Given the description of an element on the screen output the (x, y) to click on. 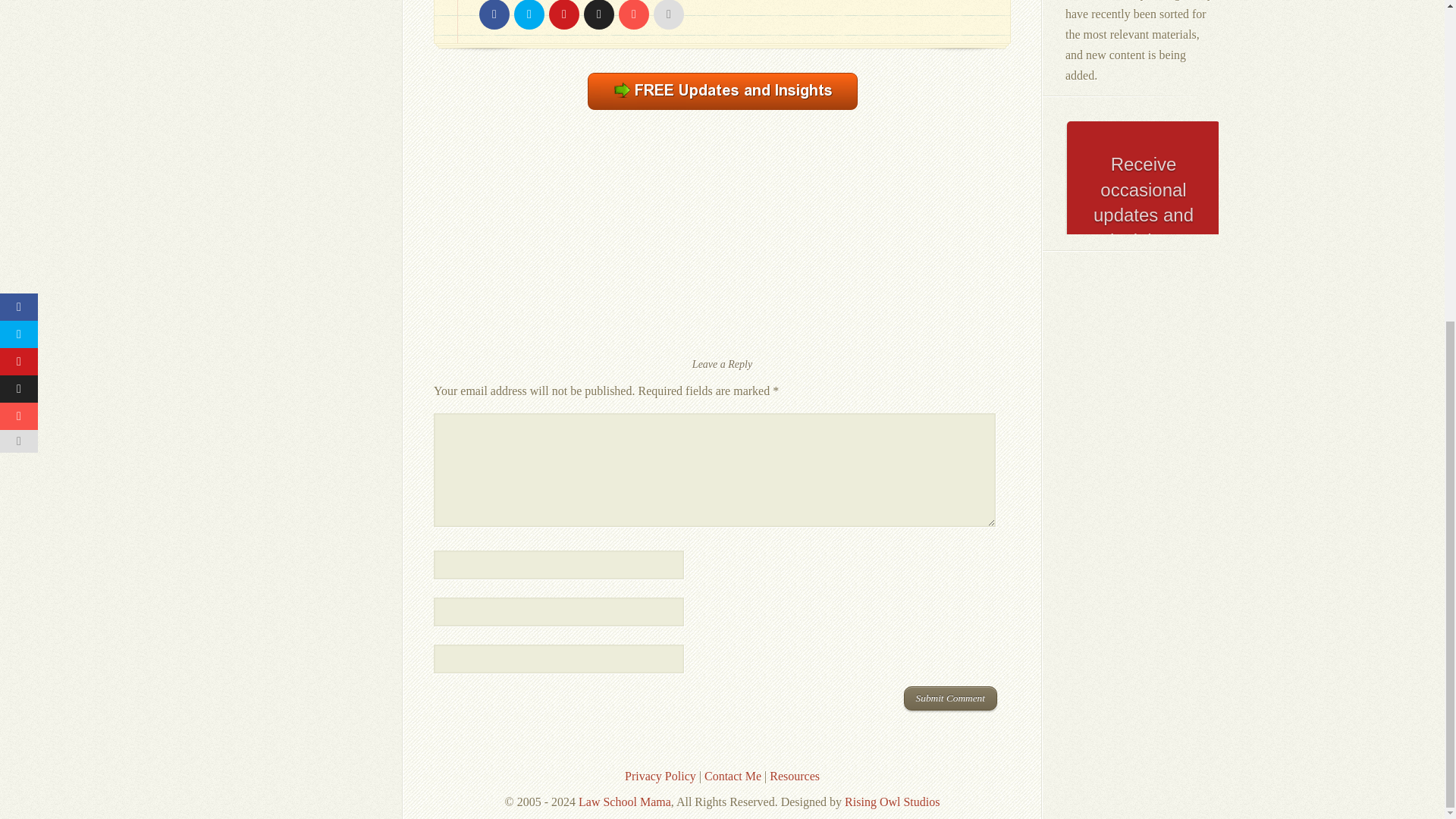
Submit Comment (950, 698)
Privacy Policy (659, 775)
Rising Owl Studios (891, 801)
Resources (794, 775)
Submit Comment (950, 698)
Advertisement (721, 242)
Contact Me (732, 775)
Law School Mama (624, 801)
